Given the description of an element on the screen output the (x, y) to click on. 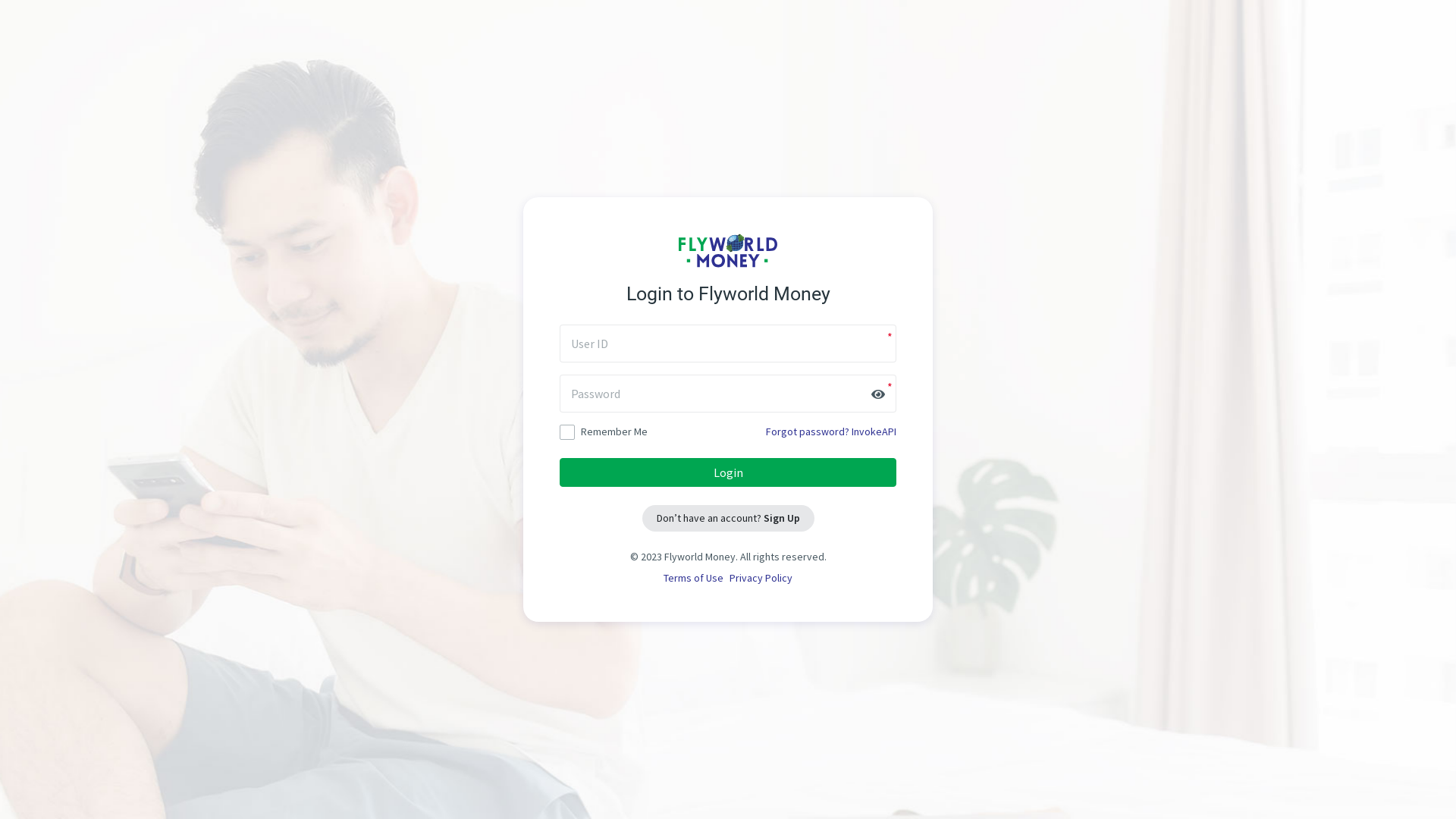
Terms of Use Element type: text (693, 578)
Privacy Policy Element type: text (760, 578)
InvokeAPI Element type: text (873, 431)
Login Element type: text (727, 472)
Forgot password? Element type: text (807, 431)
